Given the description of an element on the screen output the (x, y) to click on. 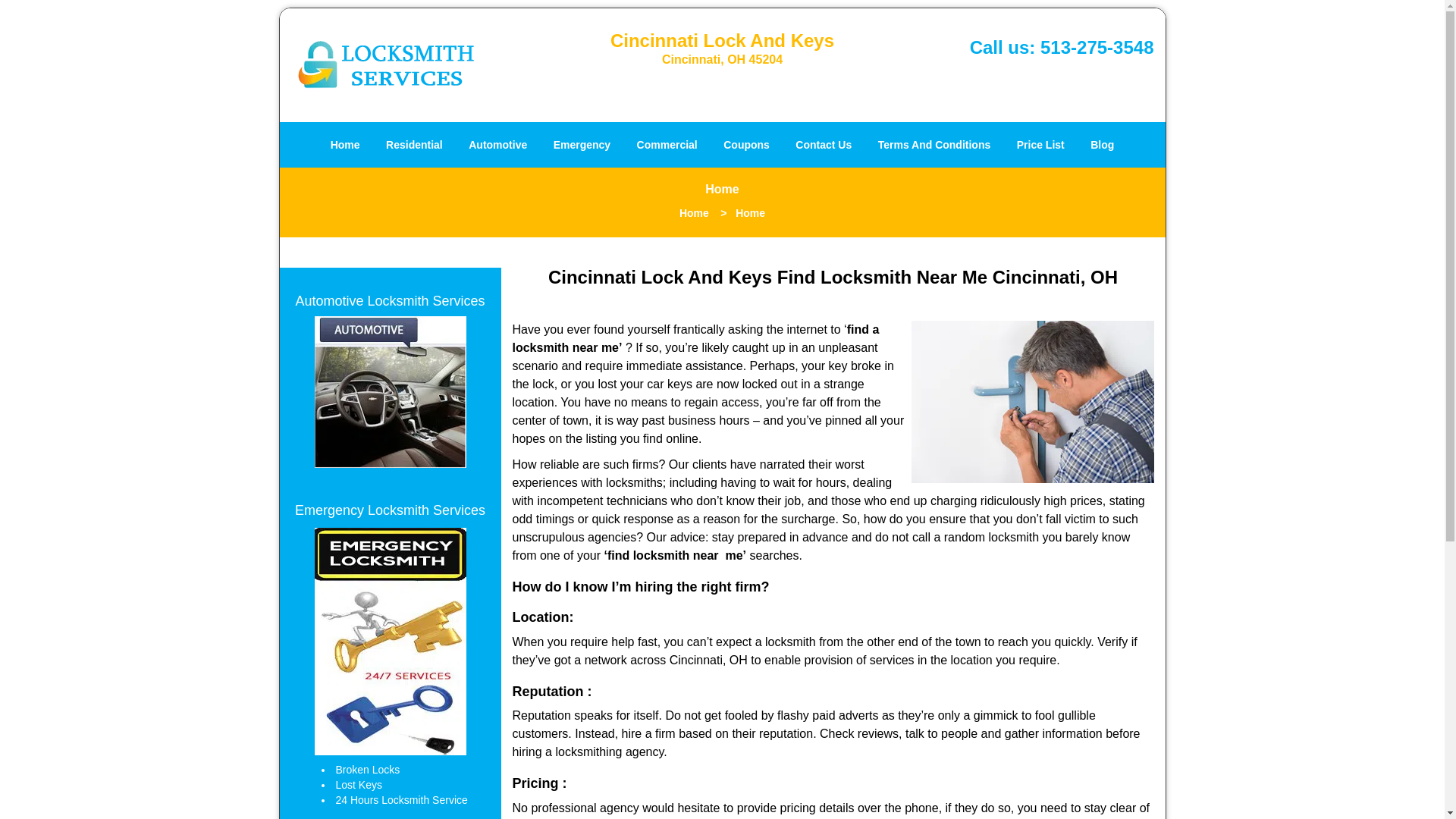
Home (694, 213)
Cincinnati Lock And Keys Cincinnati, OH 513-275-3548 (389, 391)
Blog (1101, 144)
Automotive (497, 144)
Commercial (667, 144)
Residential (414, 144)
Contact Us (823, 144)
Terms And Conditions (934, 144)
513-275-3548 (1097, 46)
Emergency (581, 144)
Cincinnati Lock And Keys Cincinnati, OH 513-275-3548 (1032, 402)
Home (344, 144)
Emergency Locksmith Services (389, 509)
Coupons (745, 144)
Automotive Locksmith Services (389, 300)
